Given the description of an element on the screen output the (x, y) to click on. 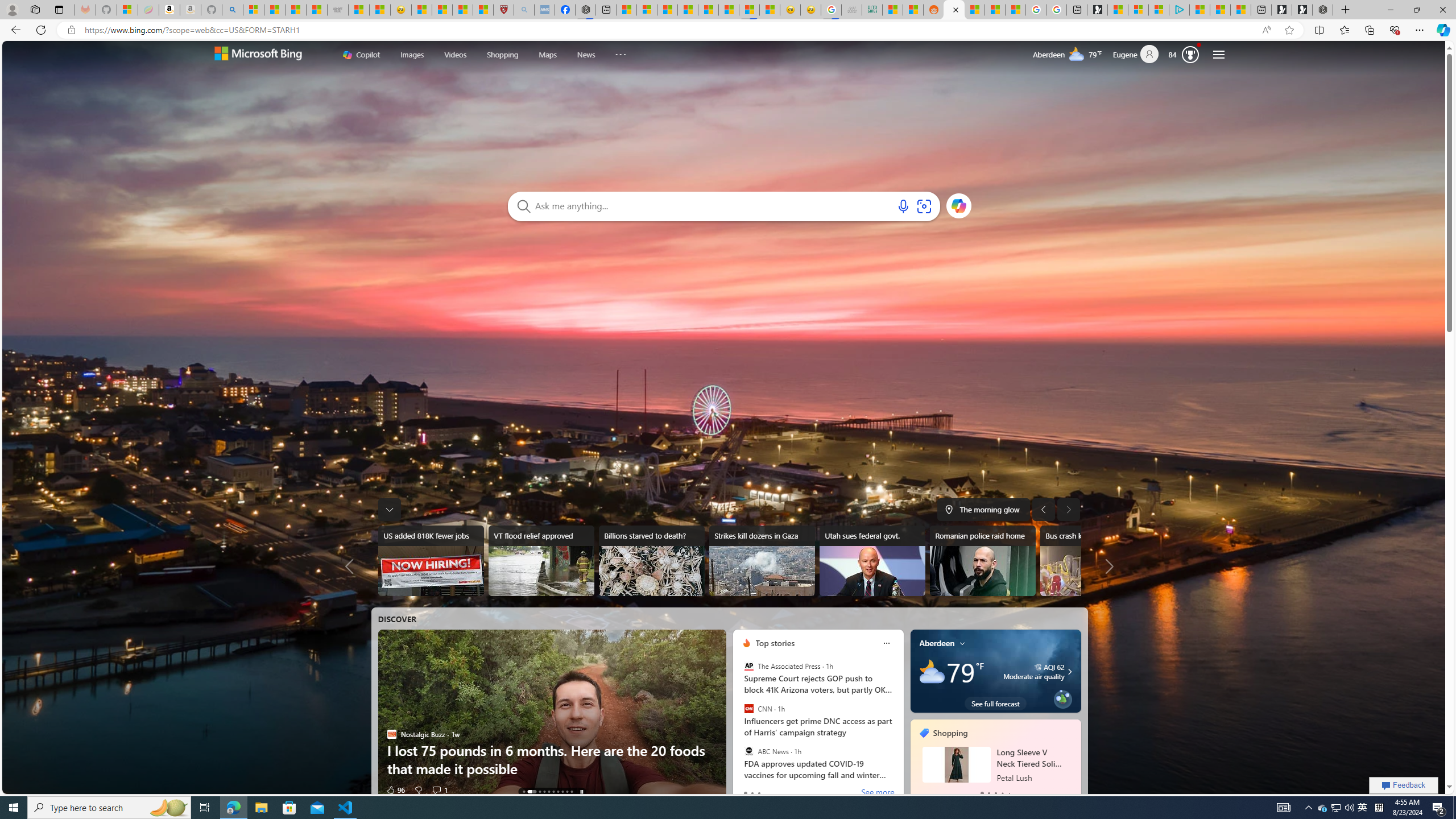
AutomationID: tab-8 (566, 791)
See full forecast (994, 703)
Images (411, 53)
tab-3 (1002, 793)
Videos (455, 54)
CNN (749, 709)
